Given the description of an element on the screen output the (x, y) to click on. 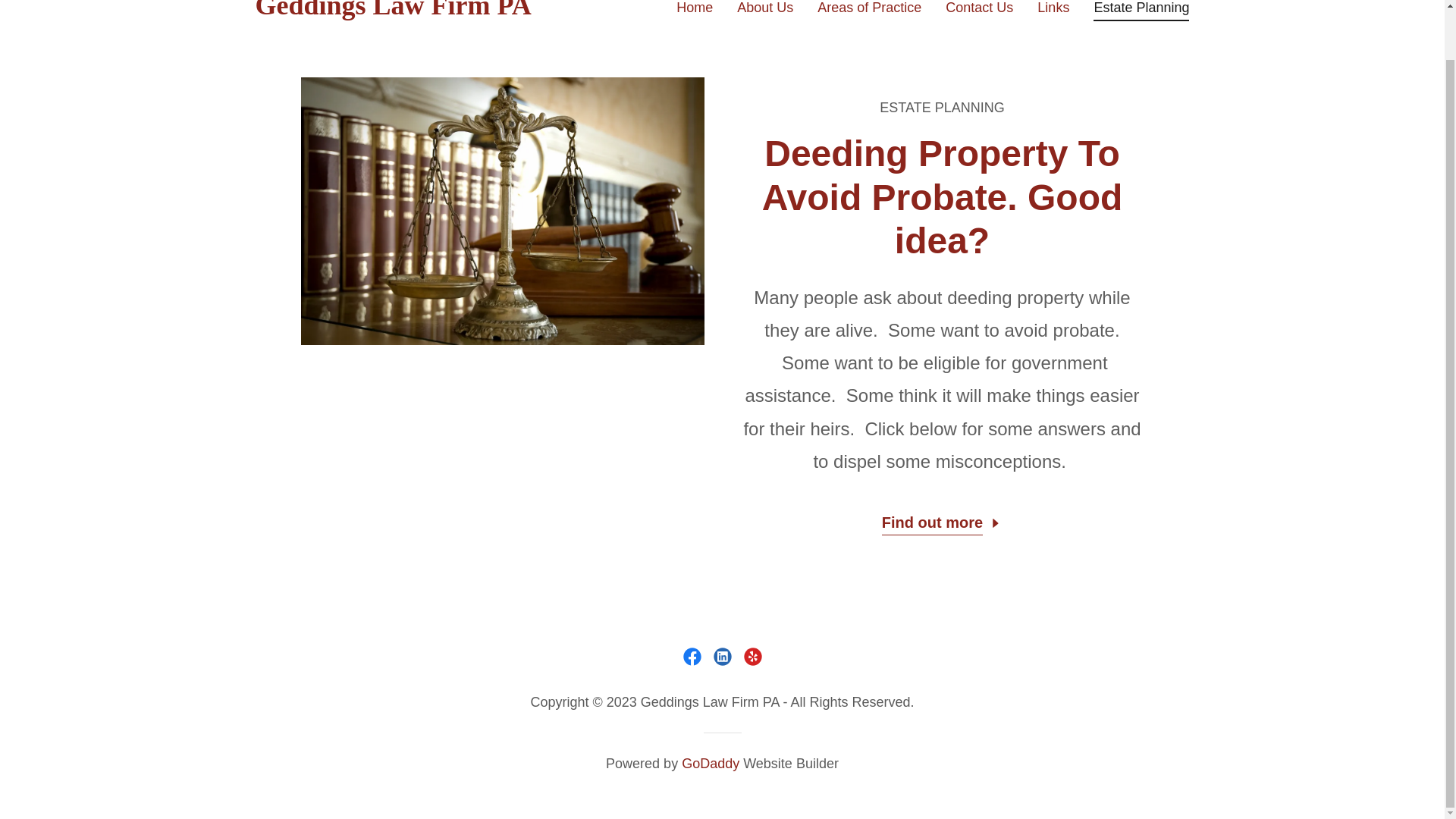
About Us (764, 9)
Home (694, 9)
GoDaddy (710, 763)
Find out more (942, 520)
Estate Planning (1141, 10)
Links (1053, 9)
Geddings Law Firm PA (417, 9)
Geddings Law Firm PA (417, 9)
Areas of Practice (869, 9)
Contact Us (978, 9)
